Given the description of an element on the screen output the (x, y) to click on. 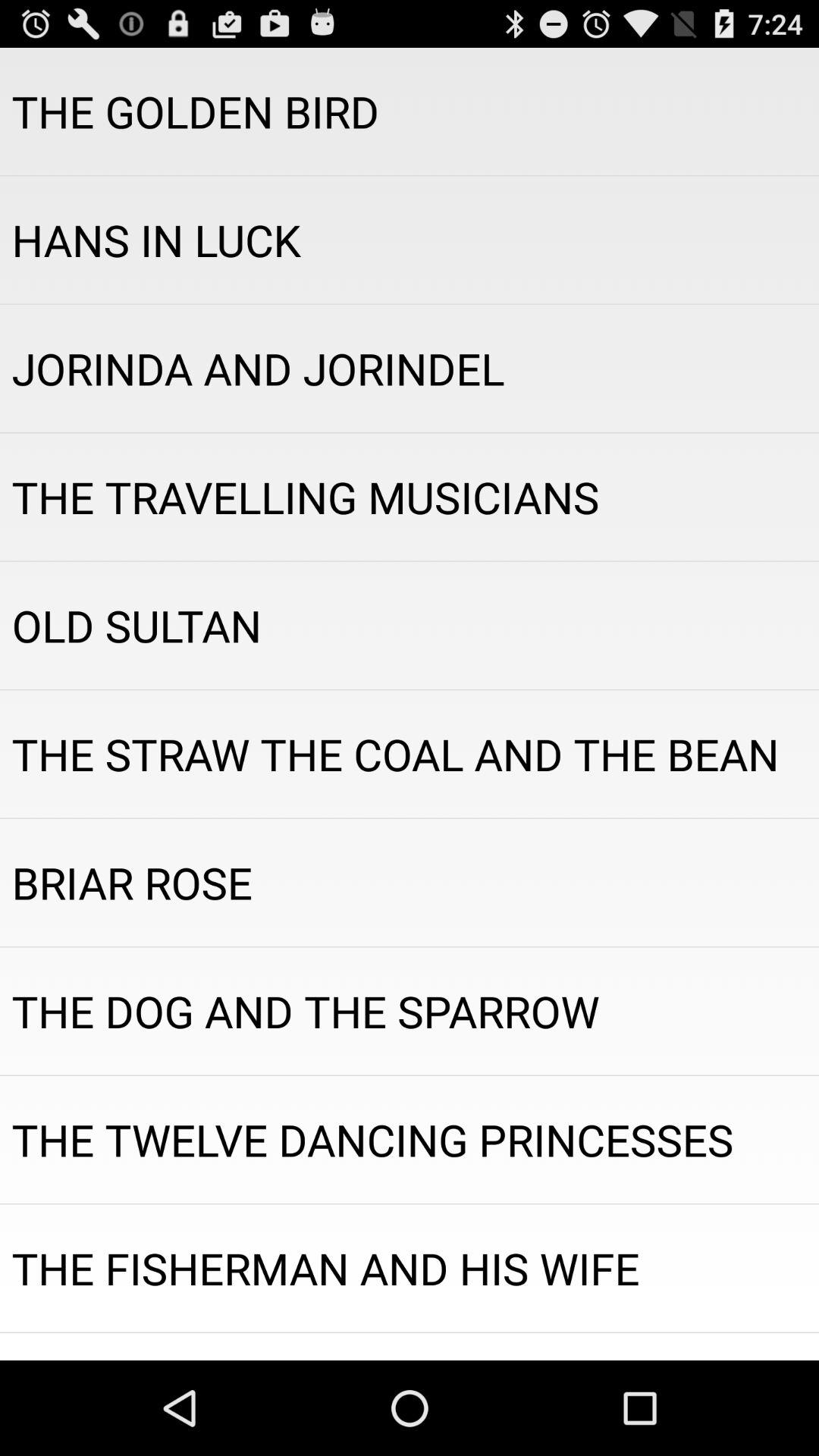
turn on briar rose (409, 882)
